Given the description of an element on the screen output the (x, y) to click on. 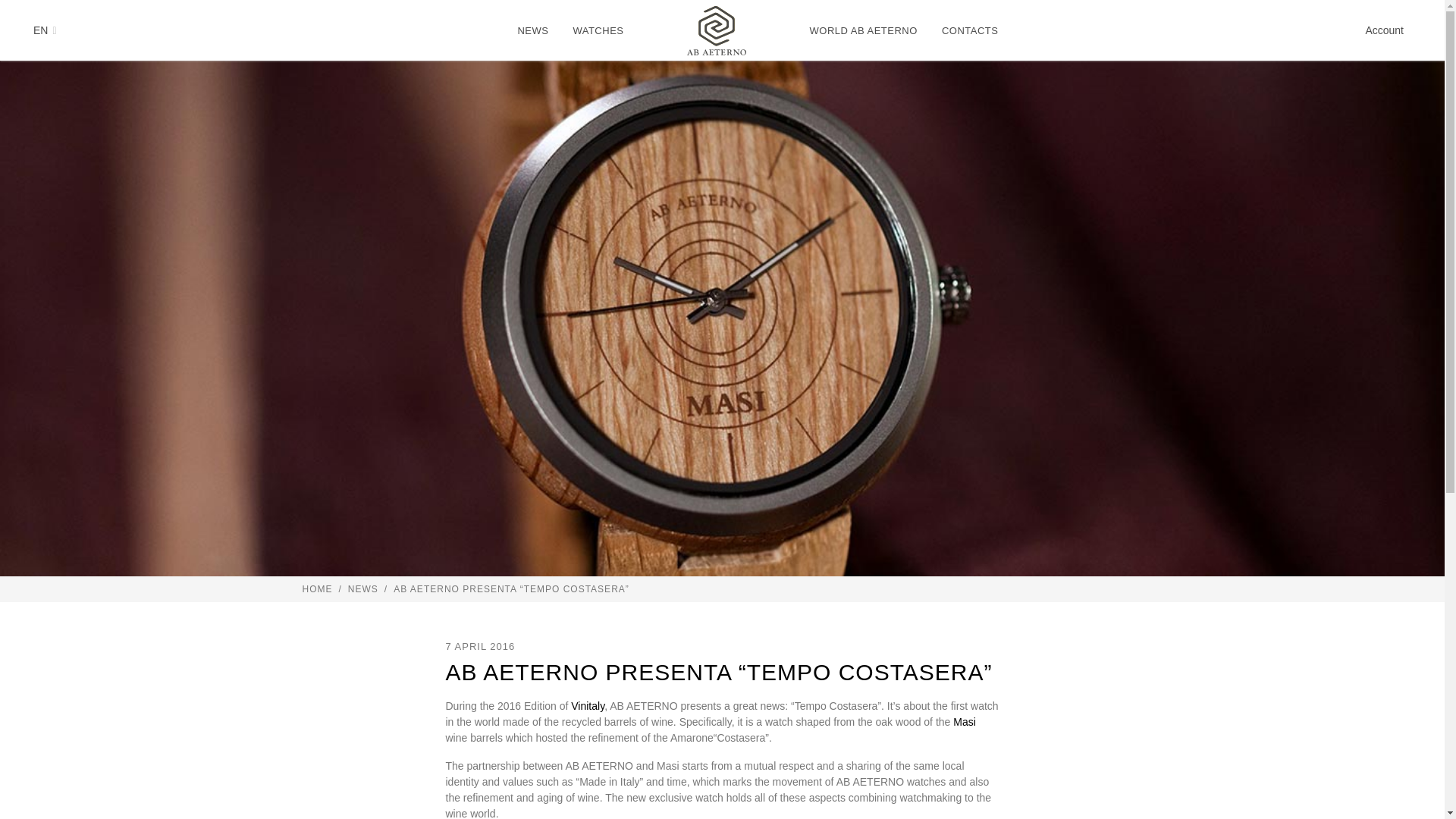
Go to the News category archives. (362, 588)
Account (1384, 30)
WORLD AB AETERNO (863, 31)
Go to AB AETERNO. (316, 588)
NEWS (532, 31)
CONTACTS (970, 31)
WATCHES (597, 31)
